Given the description of an element on the screen output the (x, y) to click on. 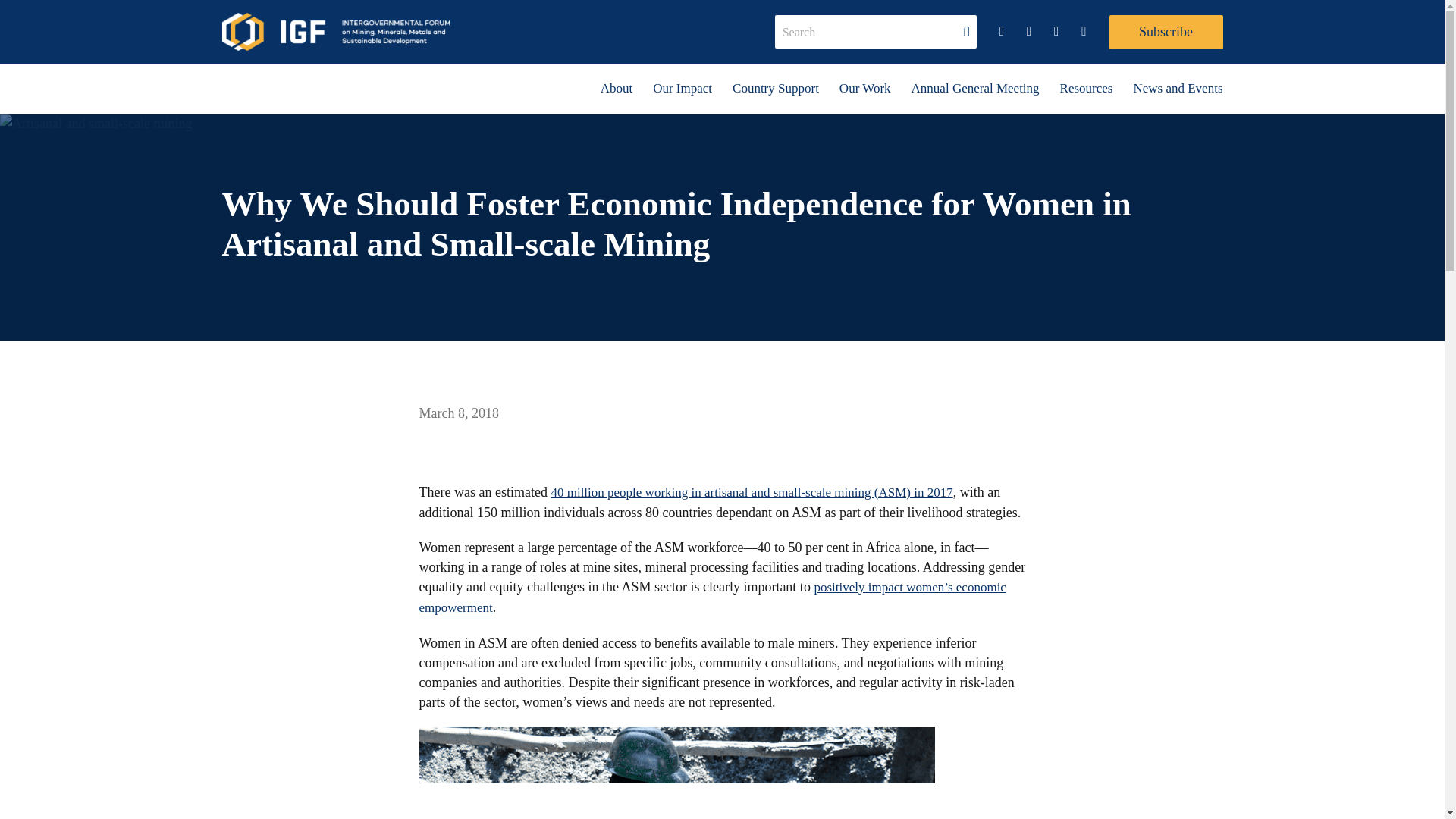
Our Impact (681, 88)
Subscribe (1165, 32)
Country Support (775, 88)
